Given the description of an element on the screen output the (x, y) to click on. 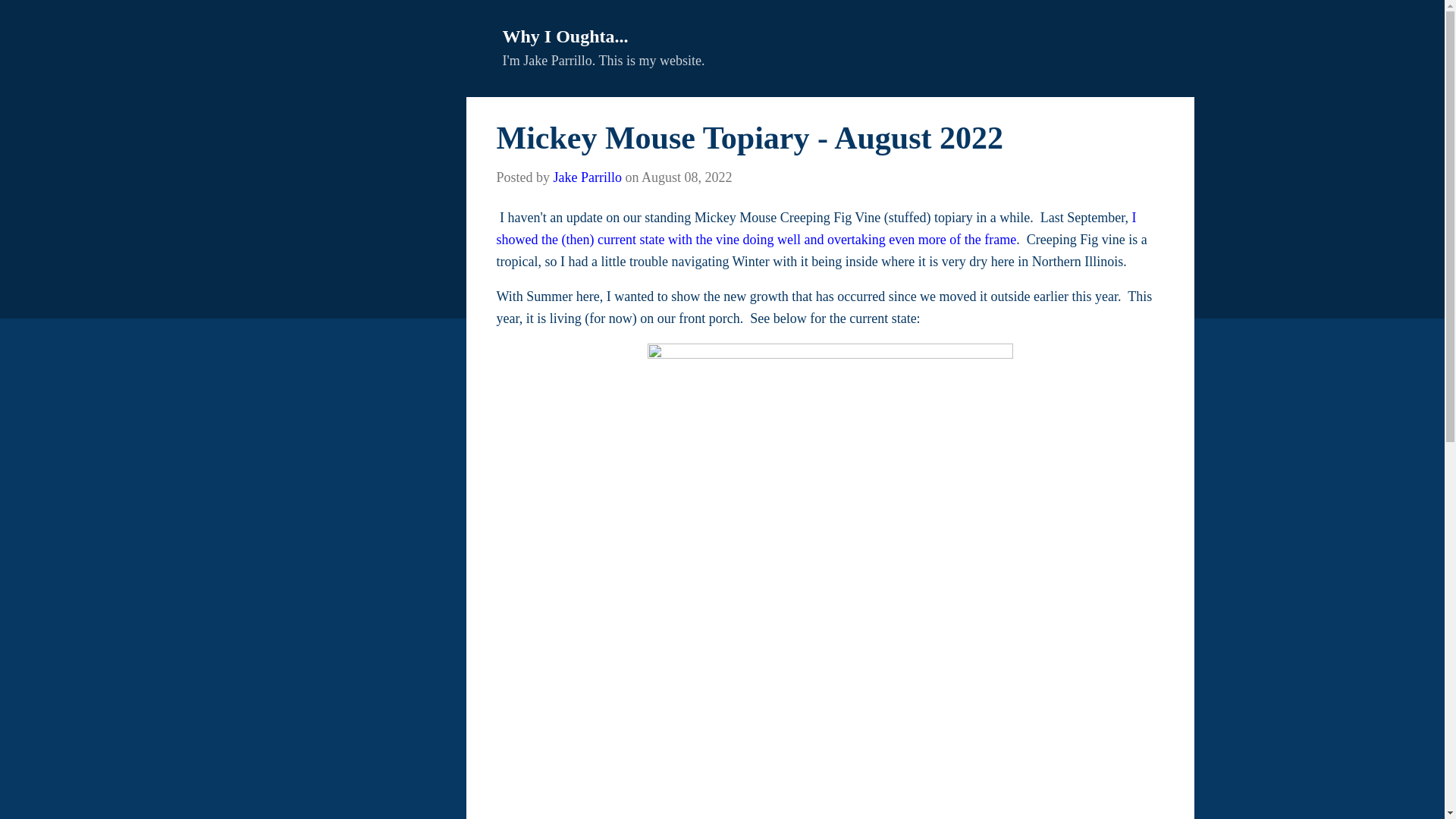
author profile (587, 177)
Why I Oughta... (564, 35)
Search (34, 18)
Jake Parrillo (587, 177)
August 08, 2022 (687, 177)
permanent link (687, 177)
